Given the description of an element on the screen output the (x, y) to click on. 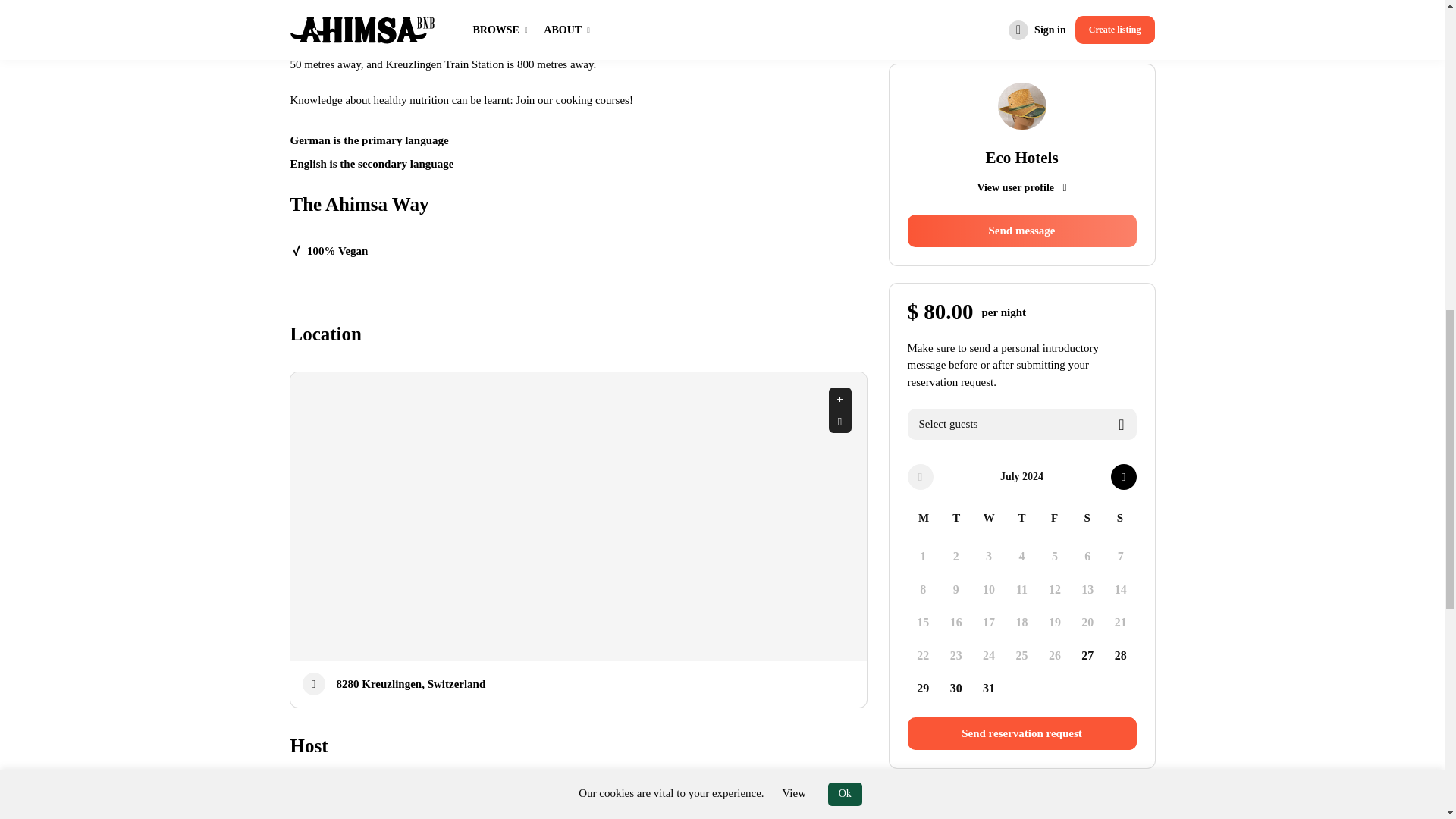
8280 Kreuzlingen, Switzerland (411, 683)
Eco Hotels (372, 813)
